Given the description of an element on the screen output the (x, y) to click on. 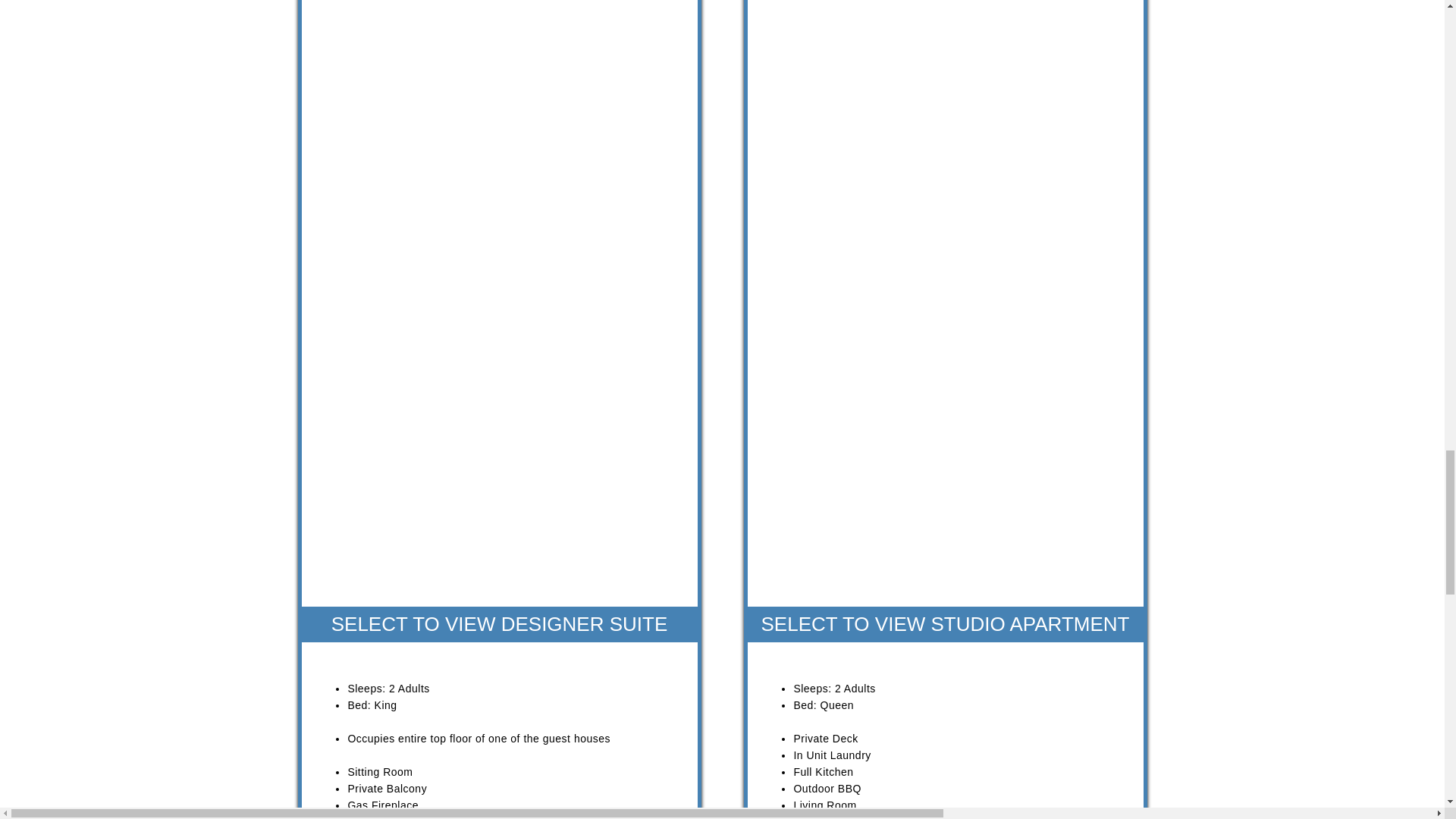
SELECT TO VIEW DESIGNER SUITE (499, 623)
SELECT TO VIEW STUDIO APARTMENT (945, 623)
